Given the description of an element on the screen output the (x, y) to click on. 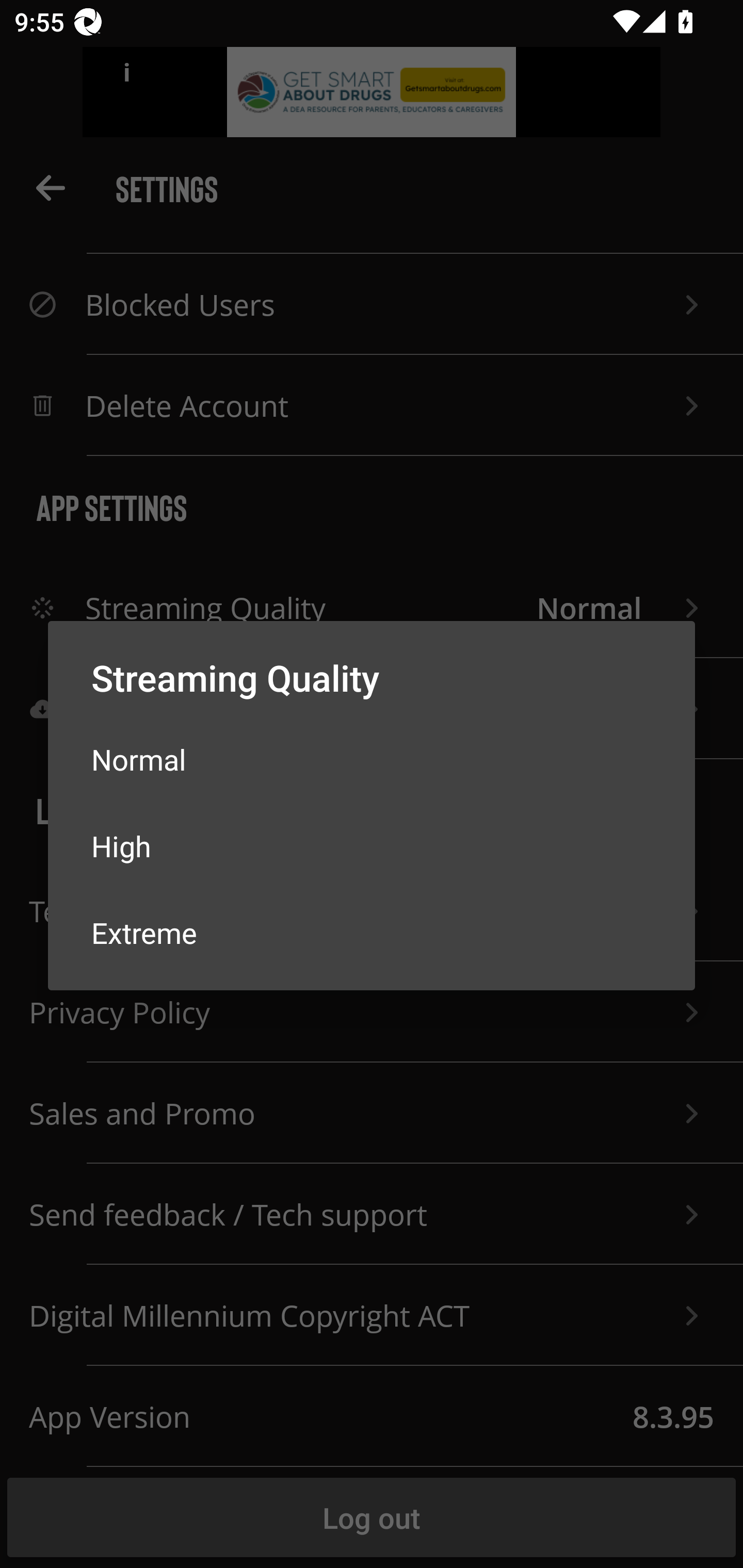
Normal (371, 759)
High (371, 845)
Extreme (371, 932)
